Given the description of an element on the screen output the (x, y) to click on. 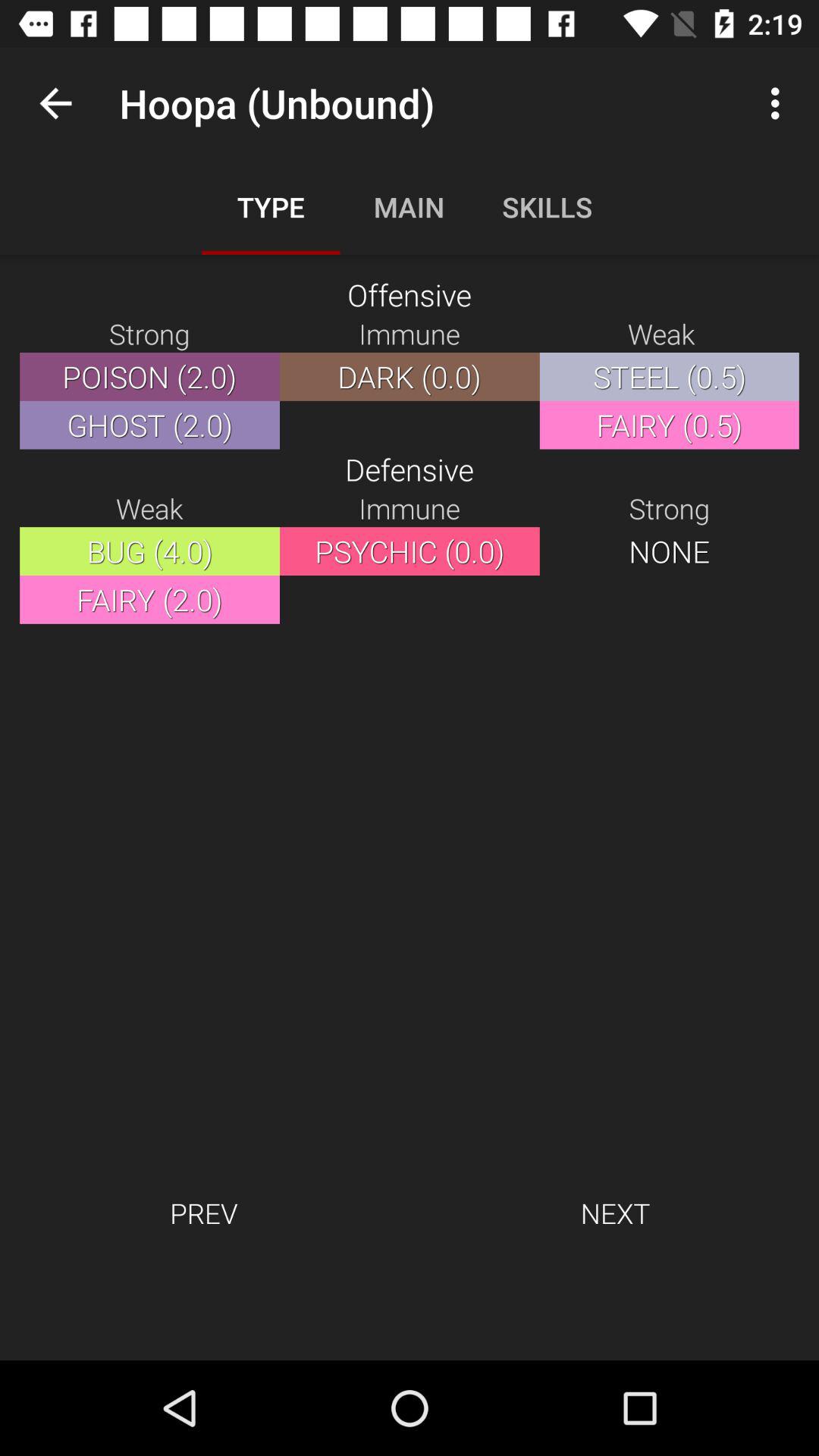
flip until the prev icon (203, 1212)
